Given the description of an element on the screen output the (x, y) to click on. 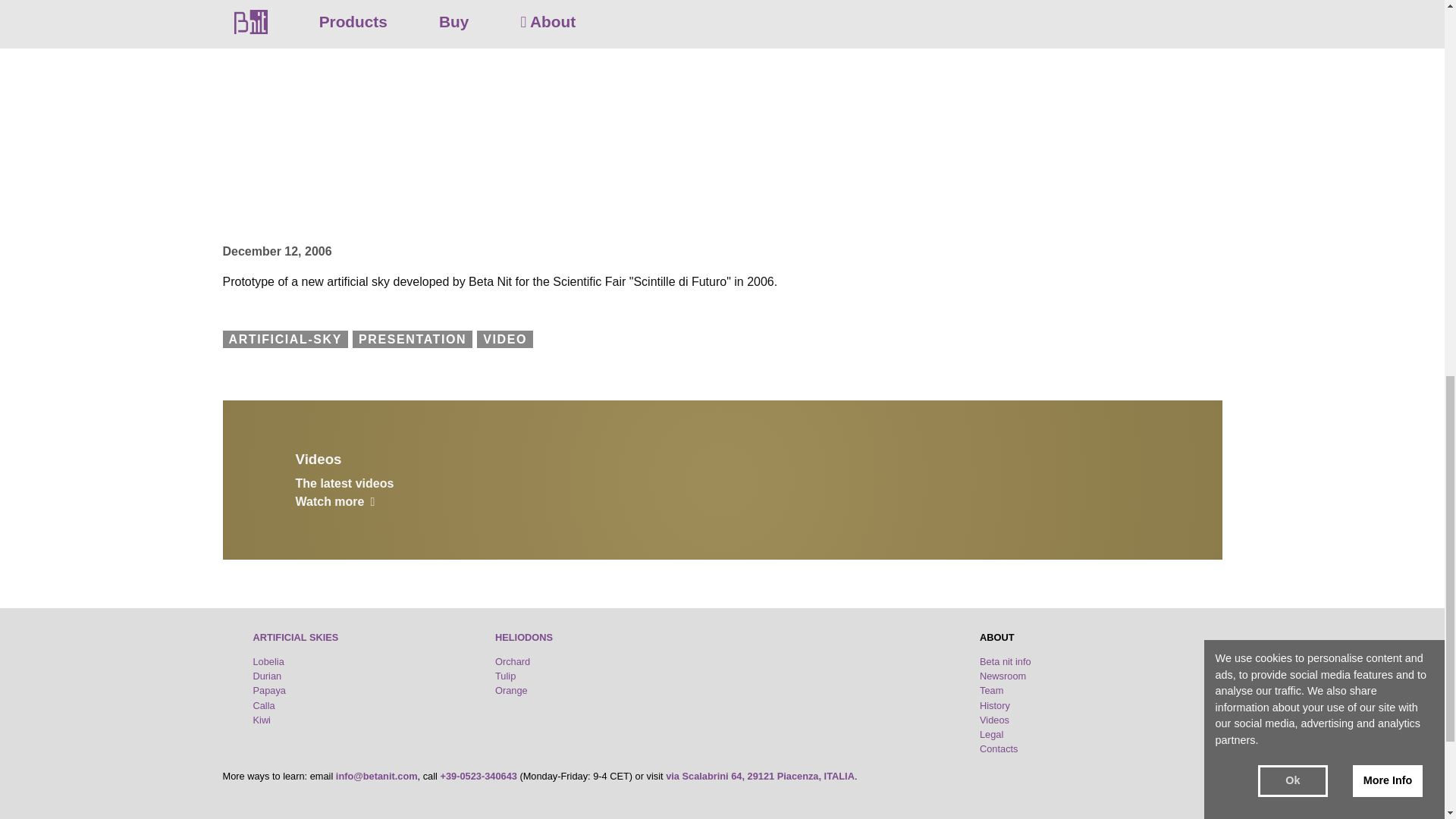
The latest videos (722, 491)
Videos (722, 461)
Papaya (269, 690)
Tulip (505, 675)
Kiwi (261, 719)
ARTIFICIAL SKIES (296, 636)
Newsroom (1002, 675)
PRESENTATION (411, 338)
Watch more (335, 501)
Beta nit info (1004, 661)
HELIODONS (524, 636)
Lobelia (268, 661)
VIDEO (505, 338)
ARTIFICIAL-SKY (285, 338)
Calla (264, 705)
